Given the description of an element on the screen output the (x, y) to click on. 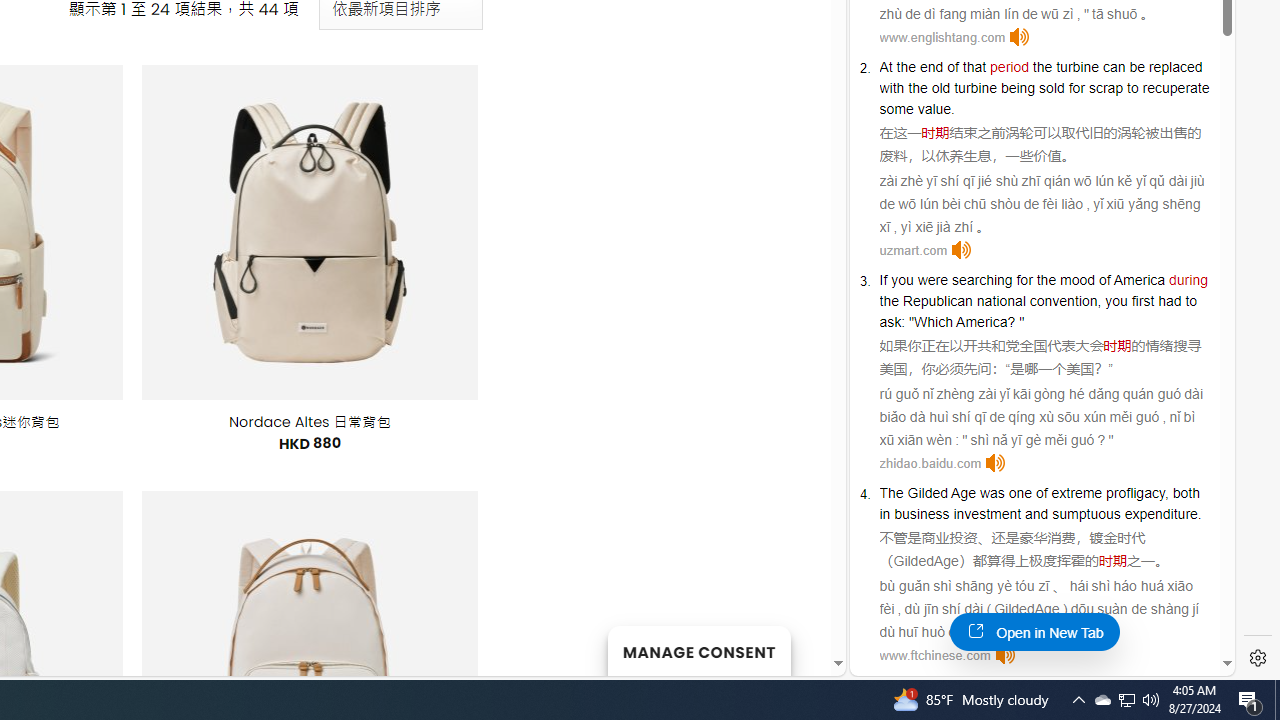
scrap (1105, 87)
Gilded (927, 493)
GildedAge (925, 560)
during (1188, 280)
